Given the description of an element on the screen output the (x, y) to click on. 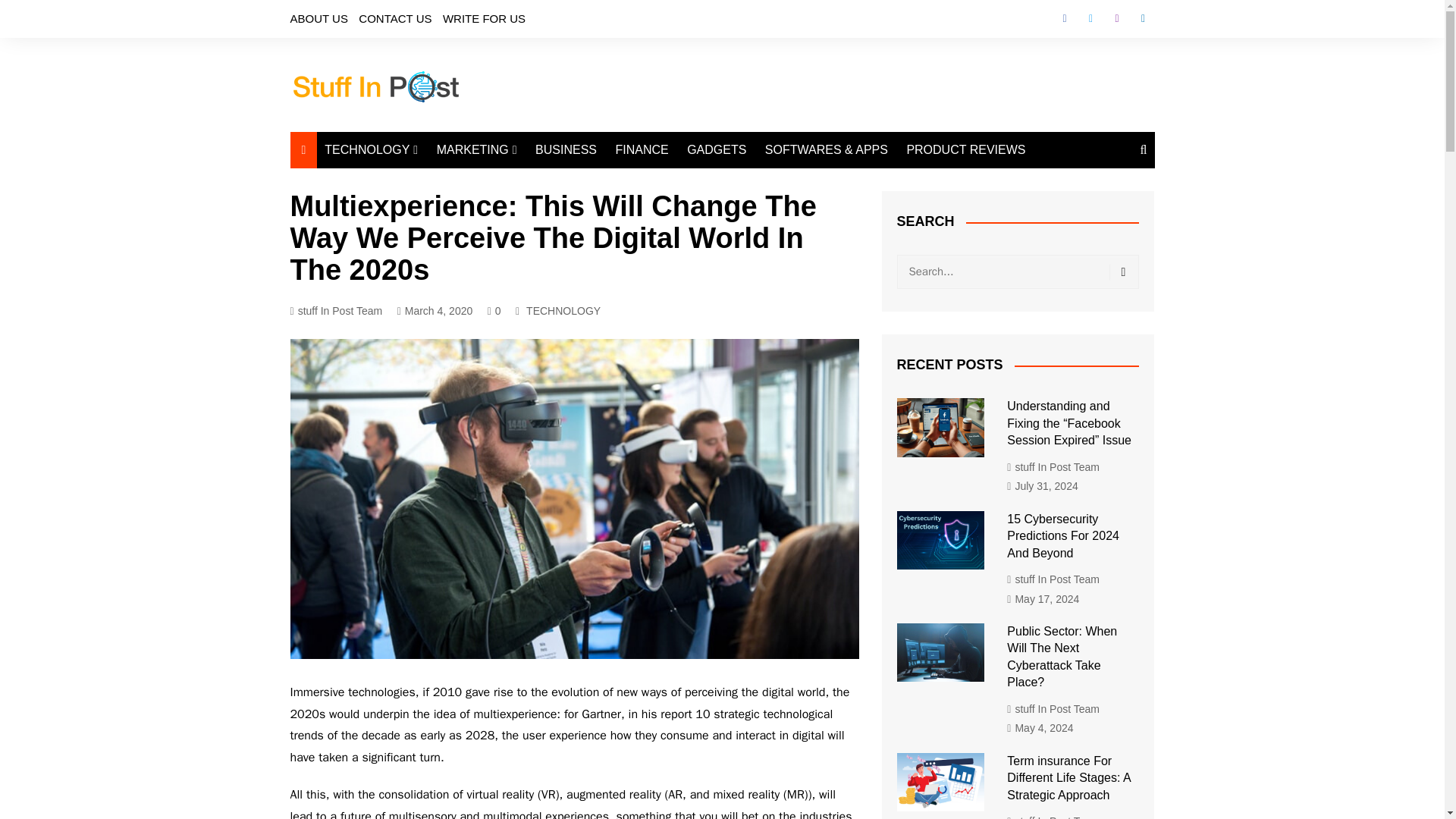
Twitter (1091, 18)
DIGITAL MARKETING (512, 180)
stuff In Post Team (335, 311)
BIG DATA (400, 293)
MARKETING (476, 149)
CLOUD COMPUTING (400, 218)
BUSINESS (565, 149)
March 4, 2020 (435, 311)
TECHNOLOGY (562, 310)
GADGETS (716, 149)
